Given the description of an element on the screen output the (x, y) to click on. 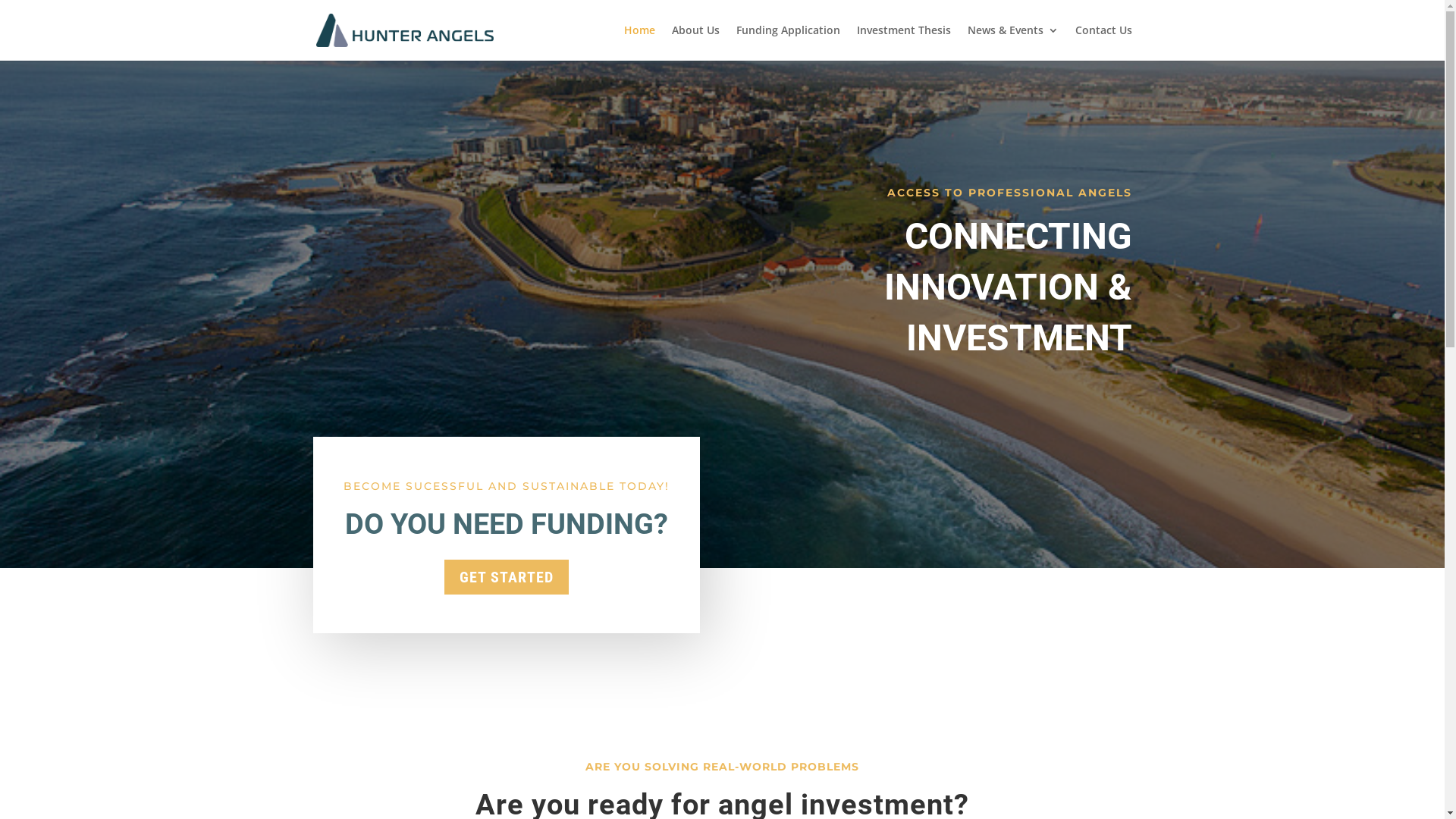
Home Element type: text (638, 42)
About Us Element type: text (695, 42)
Contact Us Element type: text (1103, 42)
GET STARTED Element type: text (506, 576)
Funding Application Element type: text (787, 42)
News & Events Element type: text (1012, 42)
Investment Thesis Element type: text (903, 42)
